Given the description of an element on the screen output the (x, y) to click on. 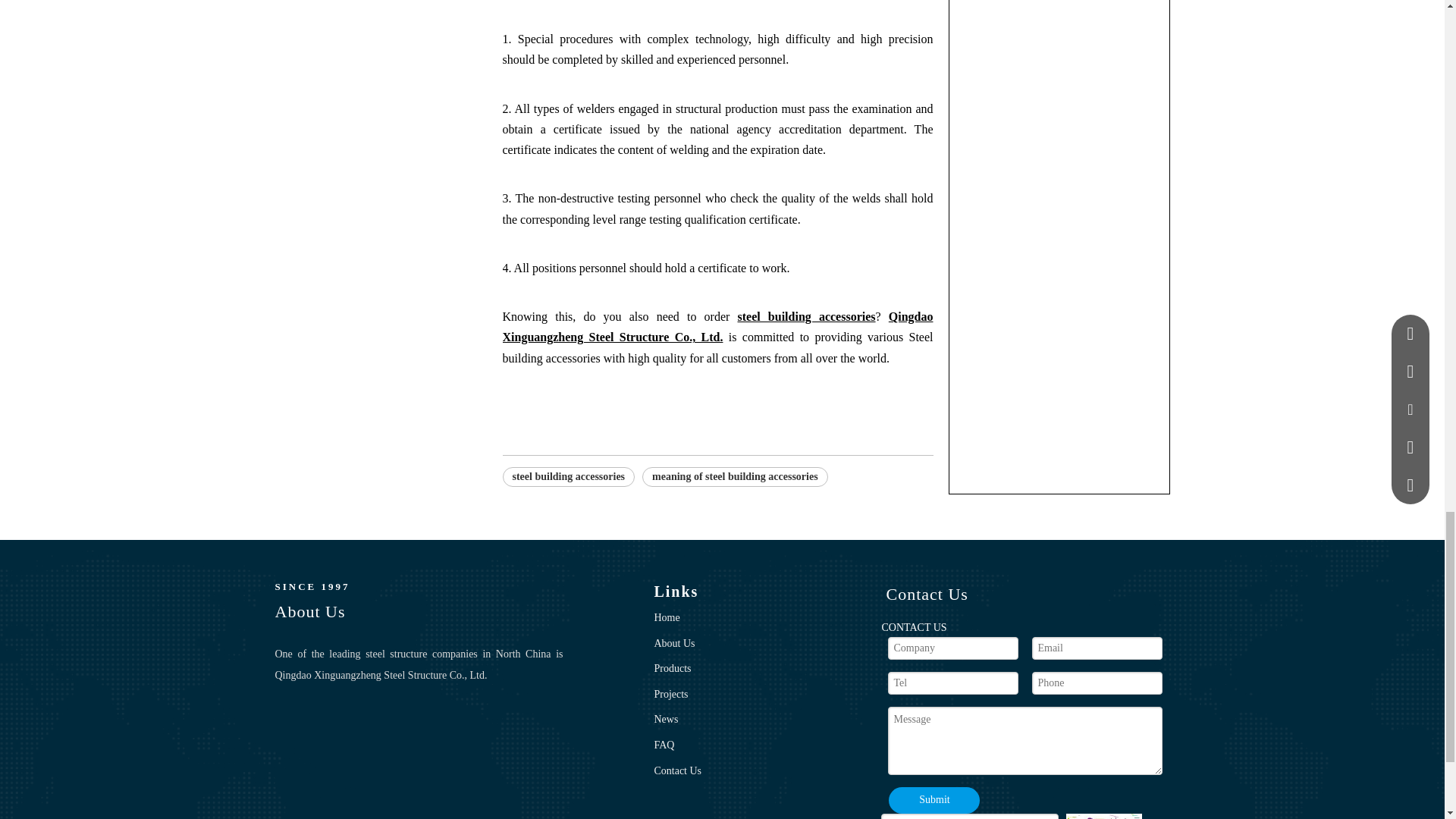
Home (666, 617)
News (665, 718)
FAQ (663, 745)
Facebook (293, 727)
Linkedin (342, 727)
steel building accessories (568, 476)
Products (671, 668)
meaning of steel building accessories (735, 476)
About Us (673, 643)
Youtube (393, 727)
Projects (670, 694)
Contact Us (677, 770)
